Given the description of an element on the screen output the (x, y) to click on. 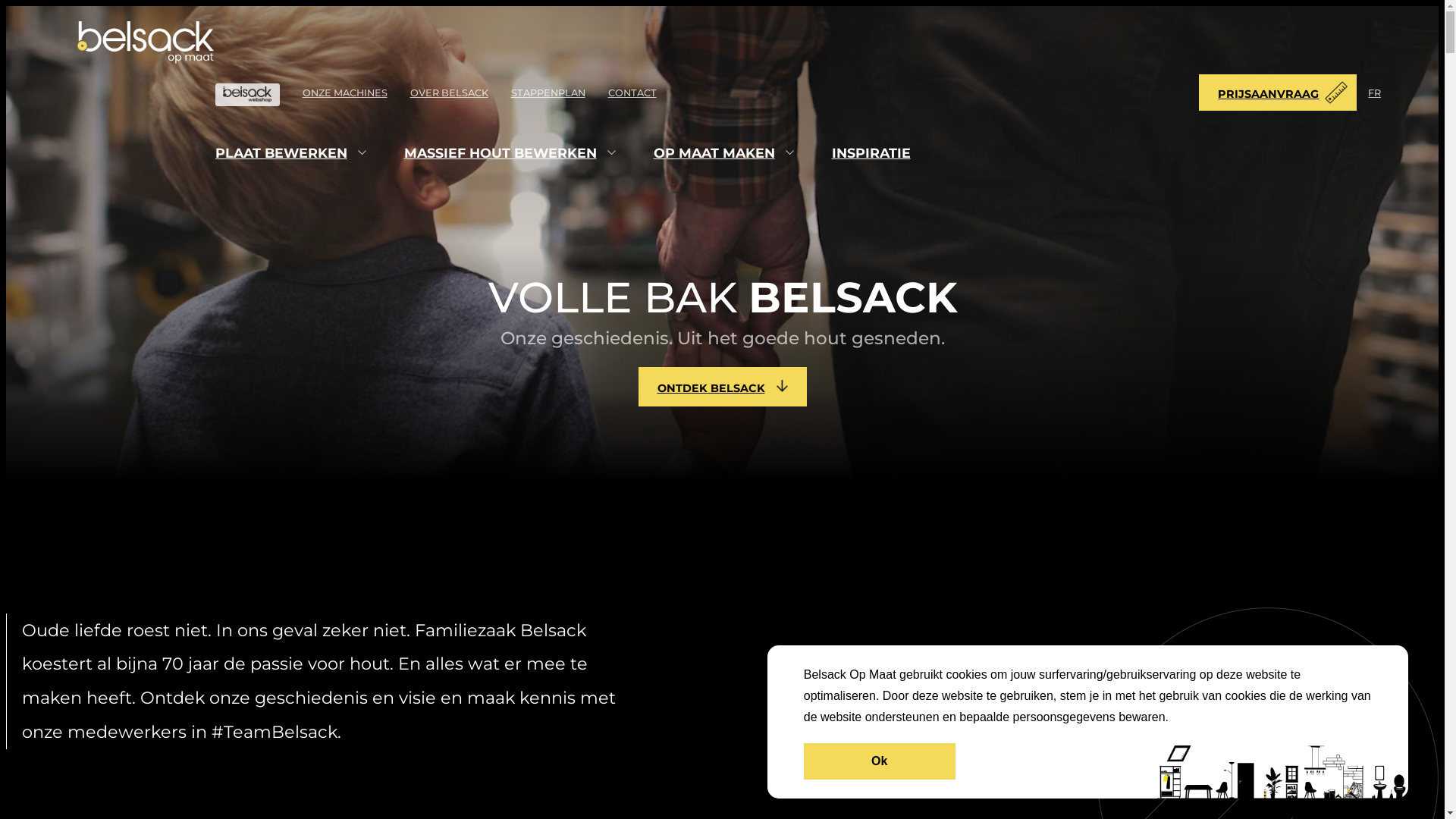
OVER BELSACK Element type: text (449, 92)
MASSIEF HOUT BEWERKEN Element type: text (500, 152)
DOE-HET-ZELF Element type: text (247, 94)
CONTACT Element type: text (632, 92)
INSPIRATIE Element type: text (870, 152)
ONZE MACHINES Element type: text (344, 92)
STAPPENPLAN Element type: text (548, 92)
FR Element type: text (1374, 92)
PRIJSAANVRAAG Element type: text (1277, 92)
ONTDEK BELSACK Element type: text (722, 386)
Ok Element type: text (879, 761)
OP MAAT MAKEN Element type: text (714, 152)
PLAAT BEWERKEN Element type: text (281, 152)
